Given the description of an element on the screen output the (x, y) to click on. 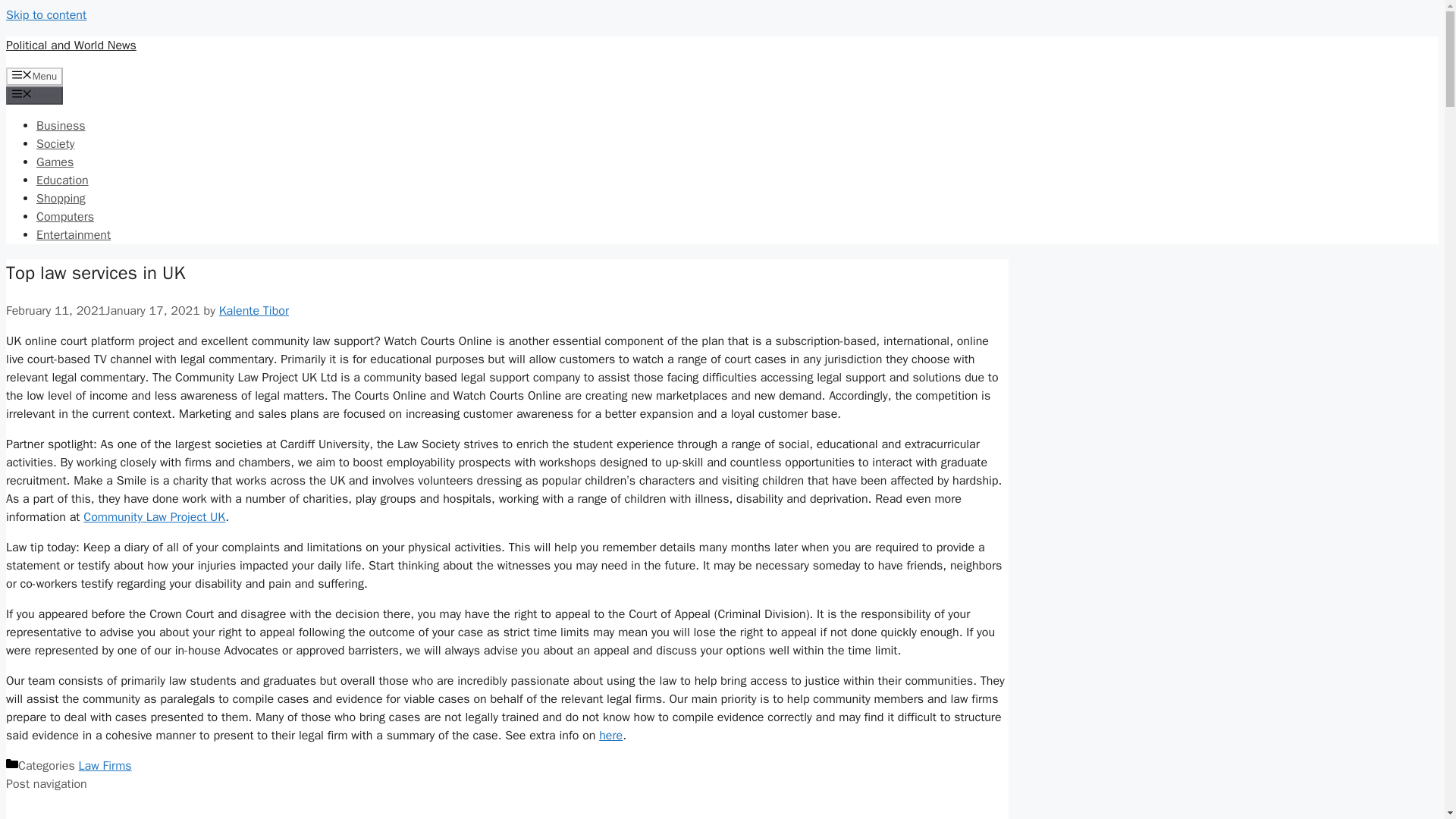
Kalente Tibor (253, 310)
Education (62, 180)
Entertainment (73, 234)
Political and World News (70, 45)
Skip to content (45, 14)
Society (55, 143)
Games (55, 161)
Computers (65, 216)
Menu (33, 76)
Shopping (60, 198)
Community Law Project UK (153, 516)
Menu (33, 95)
Skip to content (45, 14)
View all posts by Kalente Tibor (253, 310)
here (610, 735)
